Given the description of an element on the screen output the (x, y) to click on. 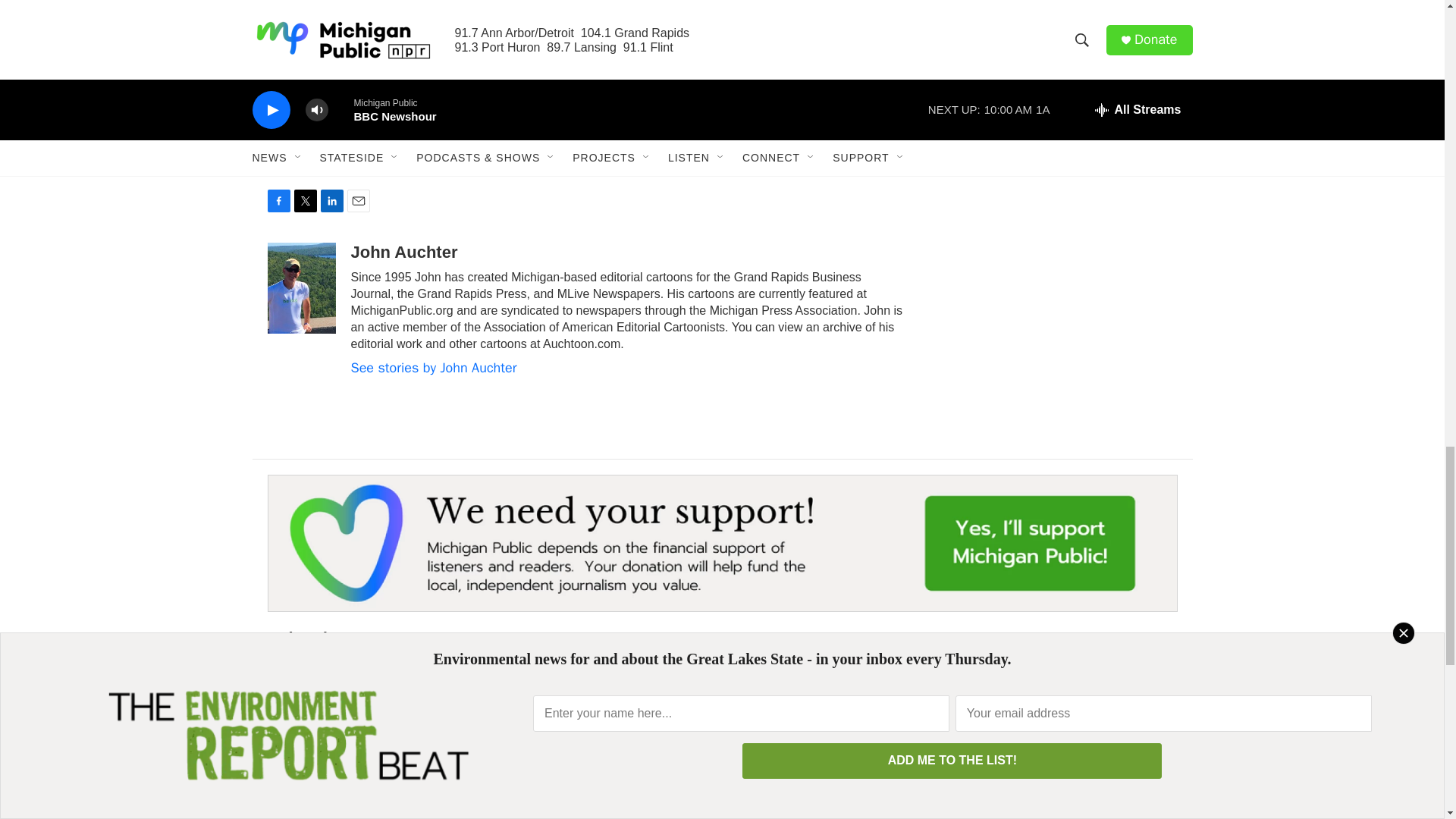
3rd party ad content (1062, 9)
